Given the description of an element on the screen output the (x, y) to click on. 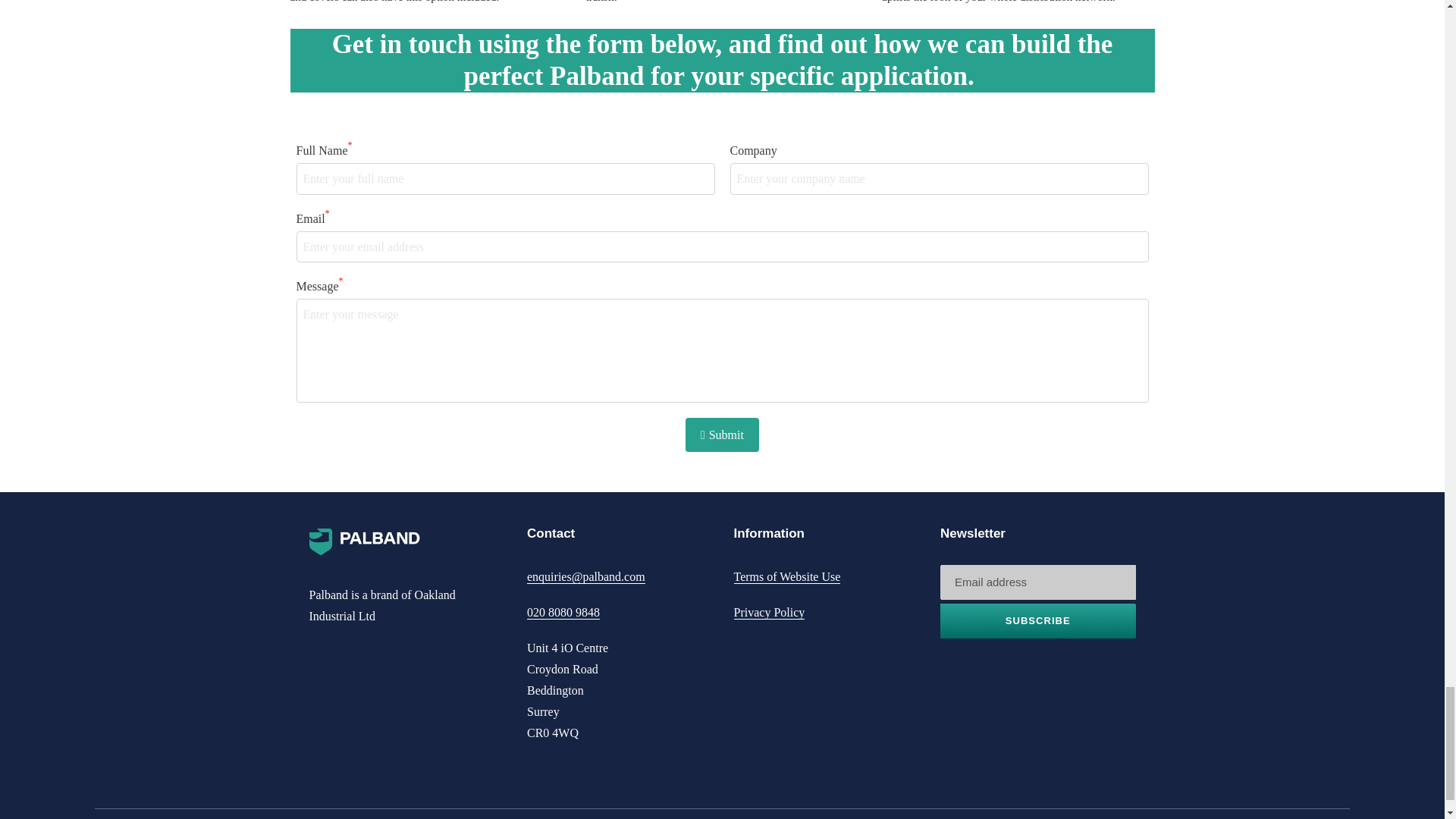
tel:020 8080 9848 (563, 612)
